Given the description of an element on the screen output the (x, y) to click on. 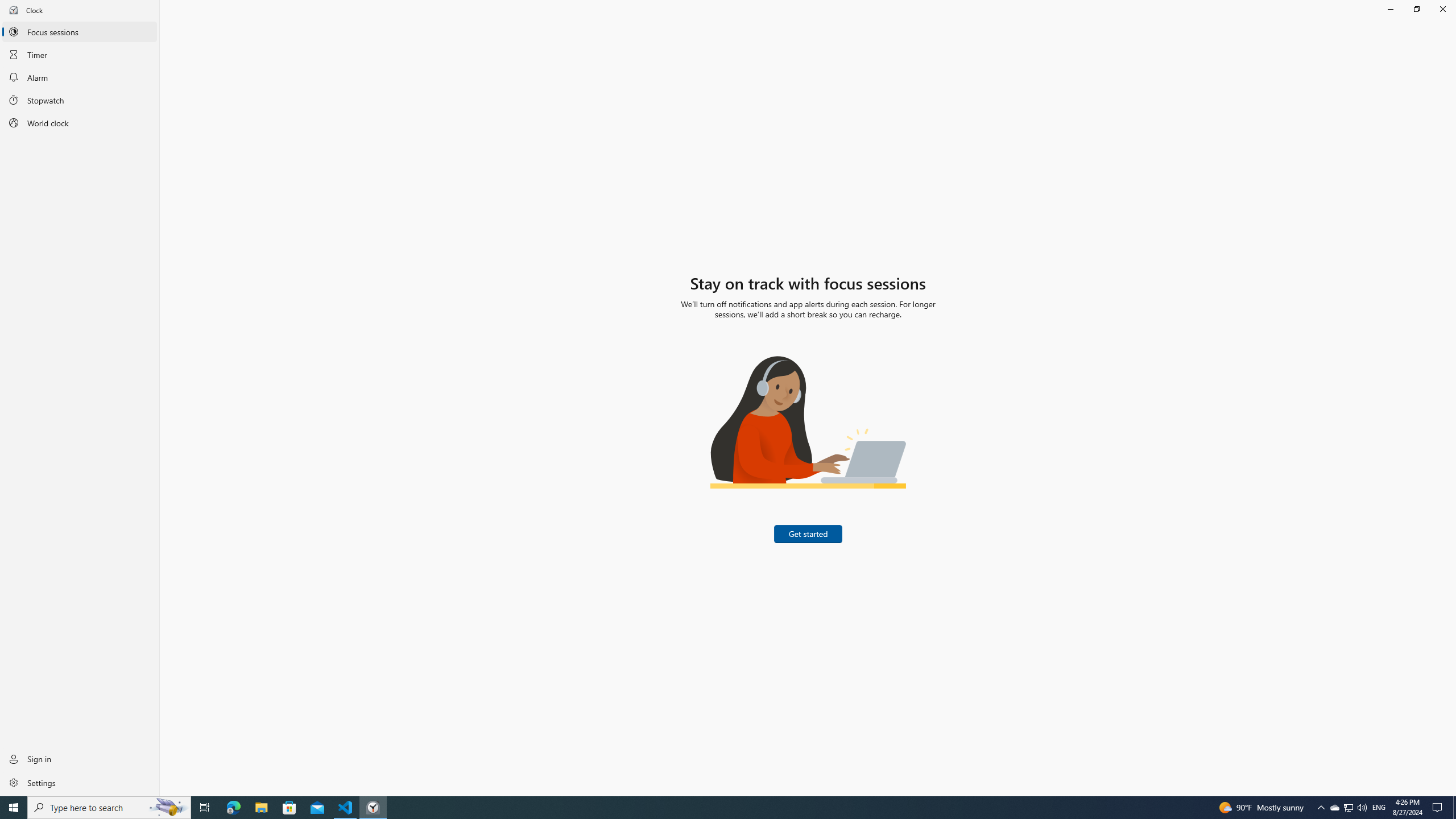
Focus sessions (79, 31)
File Explorer (261, 807)
